Given the description of an element on the screen output the (x, y) to click on. 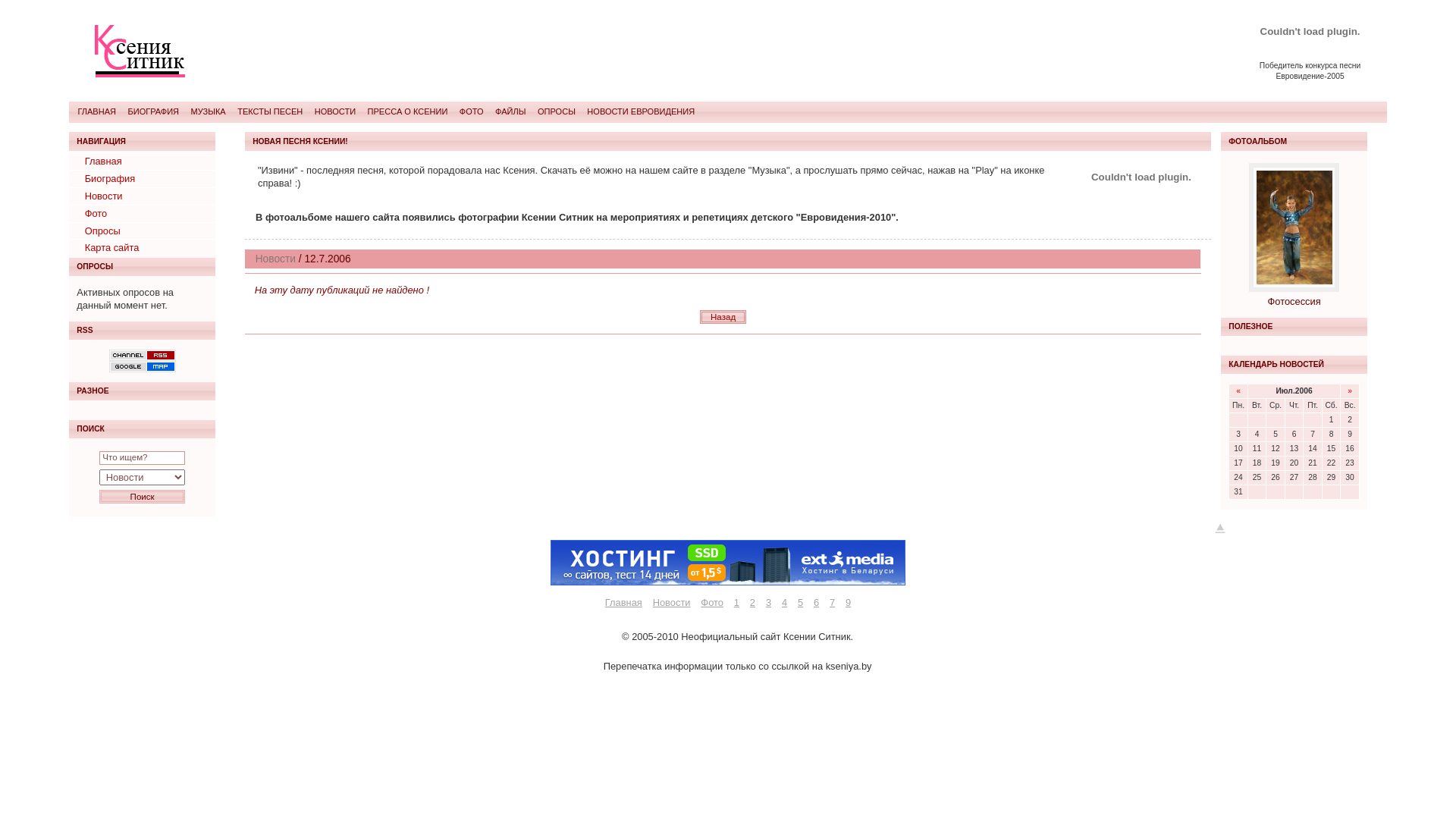
2 Element type: text (752, 602)
3 Element type: text (768, 602)
7 Element type: text (831, 602)
4 Element type: text (784, 602)
9 Element type: text (847, 602)
5 Element type: text (799, 602)
1 Element type: text (736, 602)
6 Element type: text (815, 602)
